Given the description of an element on the screen output the (x, y) to click on. 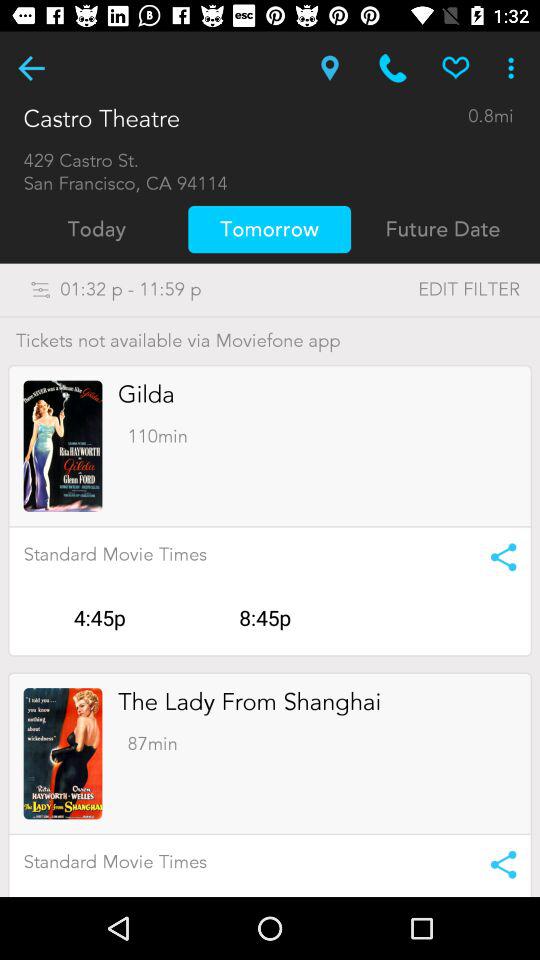
to share (496, 864)
